Given the description of an element on the screen output the (x, y) to click on. 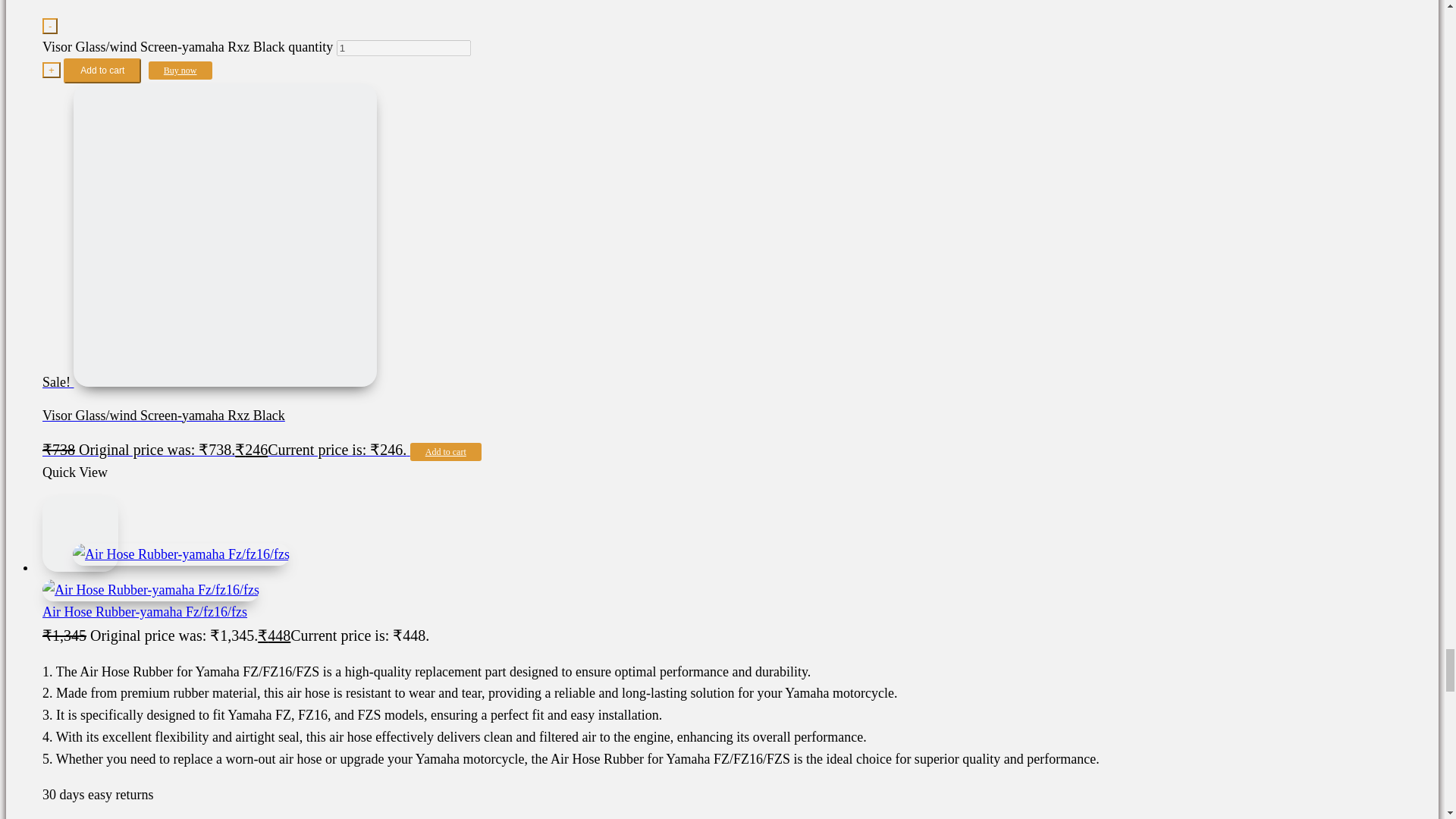
1 (403, 48)
